Given the description of an element on the screen output the (x, y) to click on. 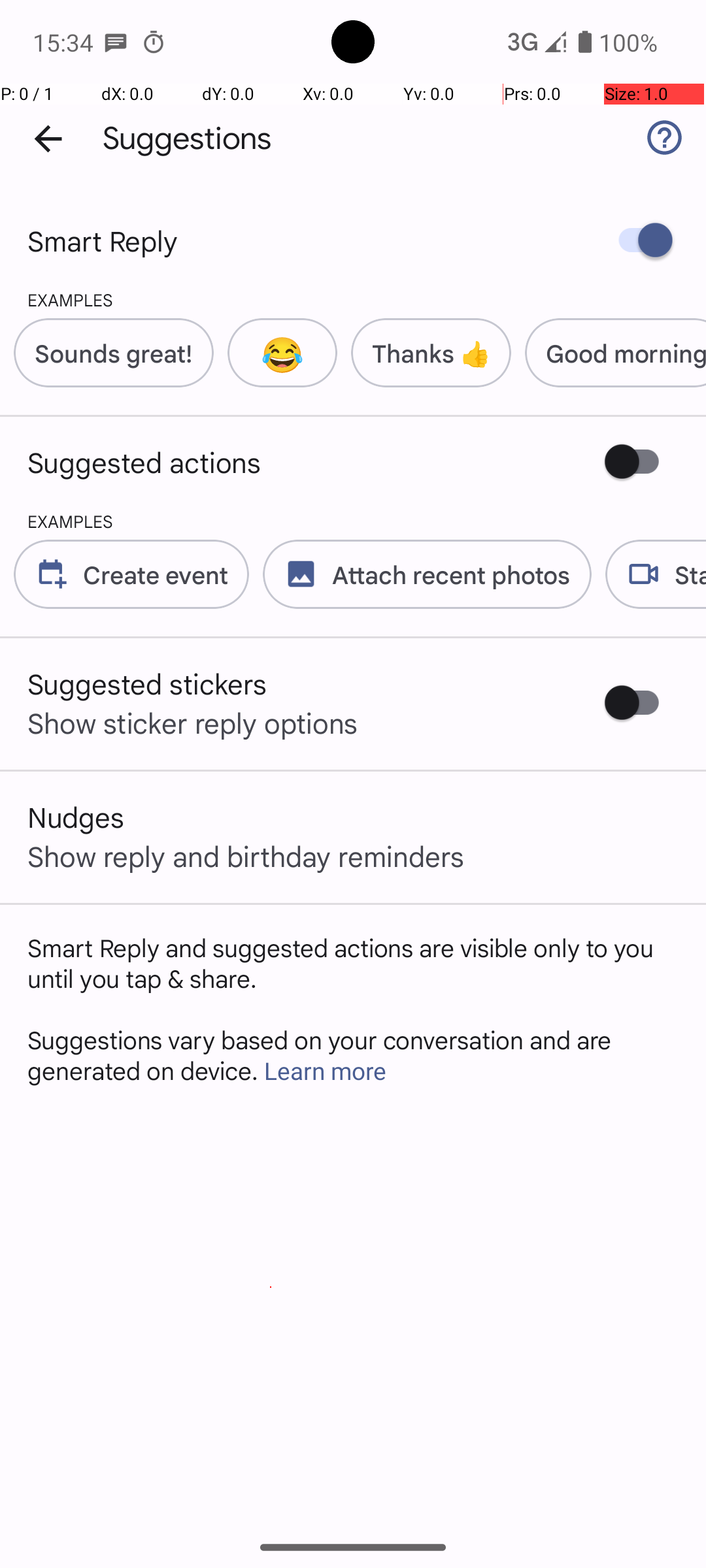
Smart Reply and suggested actions are visible only to you until you tap & share. 

Suggestions vary based on your conversation and are generated on device. Learn more Element type: android.widget.TextView (353, 1008)
Smart Reply Element type: android.widget.TextView (102, 240)
EXAMPLES Element type: android.widget.TextView (56, 299)
Suggested actions Element type: android.widget.TextView (143, 461)
Suggested stickers Element type: android.widget.TextView (147, 682)
Show sticker reply options Element type: android.widget.TextView (192, 722)
Nudges Element type: android.widget.TextView (75, 816)
Show reply and birthday reminders Element type: android.widget.TextView (245, 855)
Suggested reply: Sounds great! Element type: android.widget.FrameLayout (106, 352)
Suggested reply: 😂 Element type: android.widget.FrameLayout (275, 352)
Suggested reply: Thanks 👍 Element type: android.widget.FrameLayout (424, 352)
Suggested reply: Good morning Element type: android.widget.FrameLayout (608, 352)
Suggested calendar action: Create event Element type: android.widget.FrameLayout (124, 574)
Attach recent photos Element type: android.widget.FrameLayout (420, 574)
Start video call Element type: android.widget.FrameLayout (648, 574)
Sounds great! Element type: android.widget.TextView (113, 352)
😂 Element type: android.widget.TextView (281, 352)
Thanks 👍 Element type: android.widget.TextView (430, 352)
Good morning Element type: android.widget.TextView (625, 352)
Action icon Element type: android.widget.ImageView (51, 573)
Create event Element type: android.widget.TextView (155, 573)
